Given the description of an element on the screen output the (x, y) to click on. 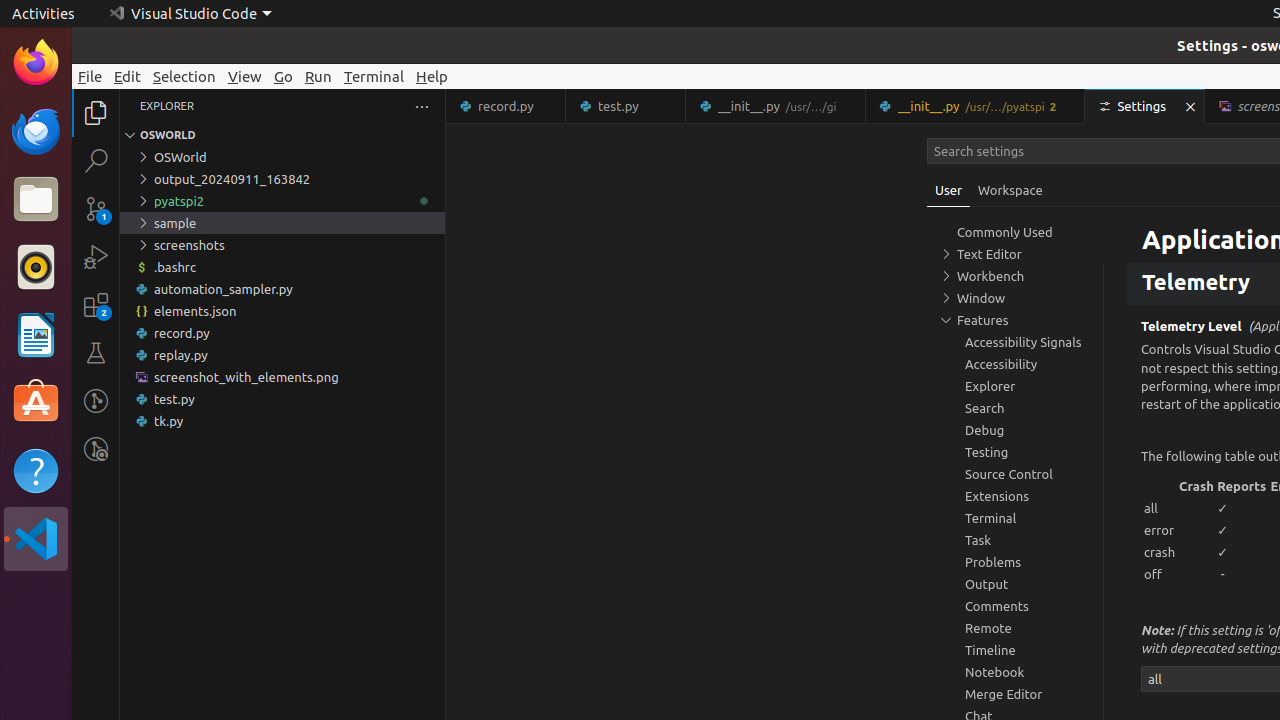
Explorer, group Element type: tree-item (1015, 386)
Output, group Element type: tree-item (1015, 584)
Explorer Section: osworld Element type: push-button (282, 135)
screenshots Element type: tree-item (282, 245)
off Element type: table-cell (1160, 574)
